Given the description of an element on the screen output the (x, y) to click on. 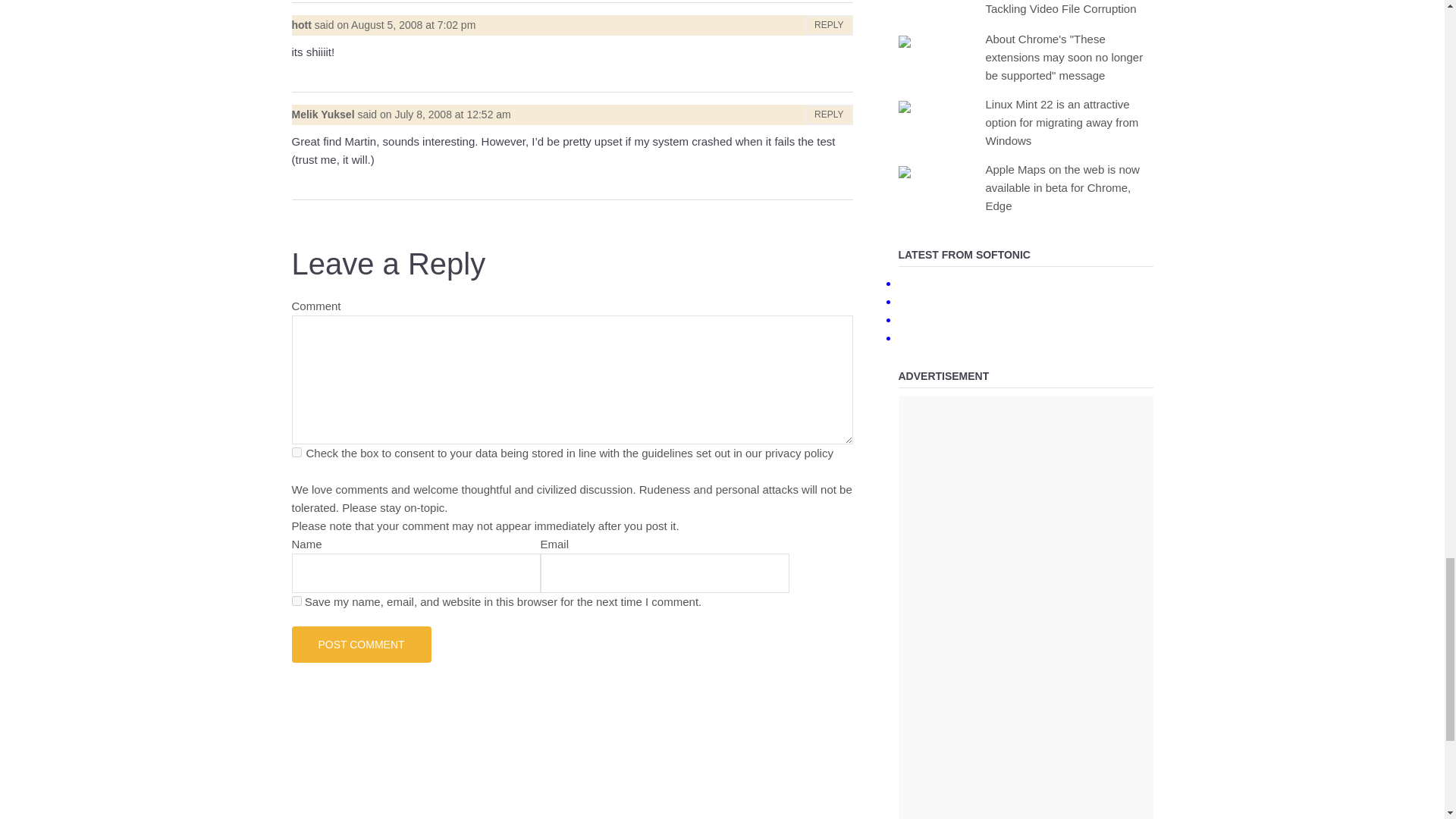
yes (296, 601)
privacy-key (296, 452)
Post Comment (360, 644)
